Given the description of an element on the screen output the (x, y) to click on. 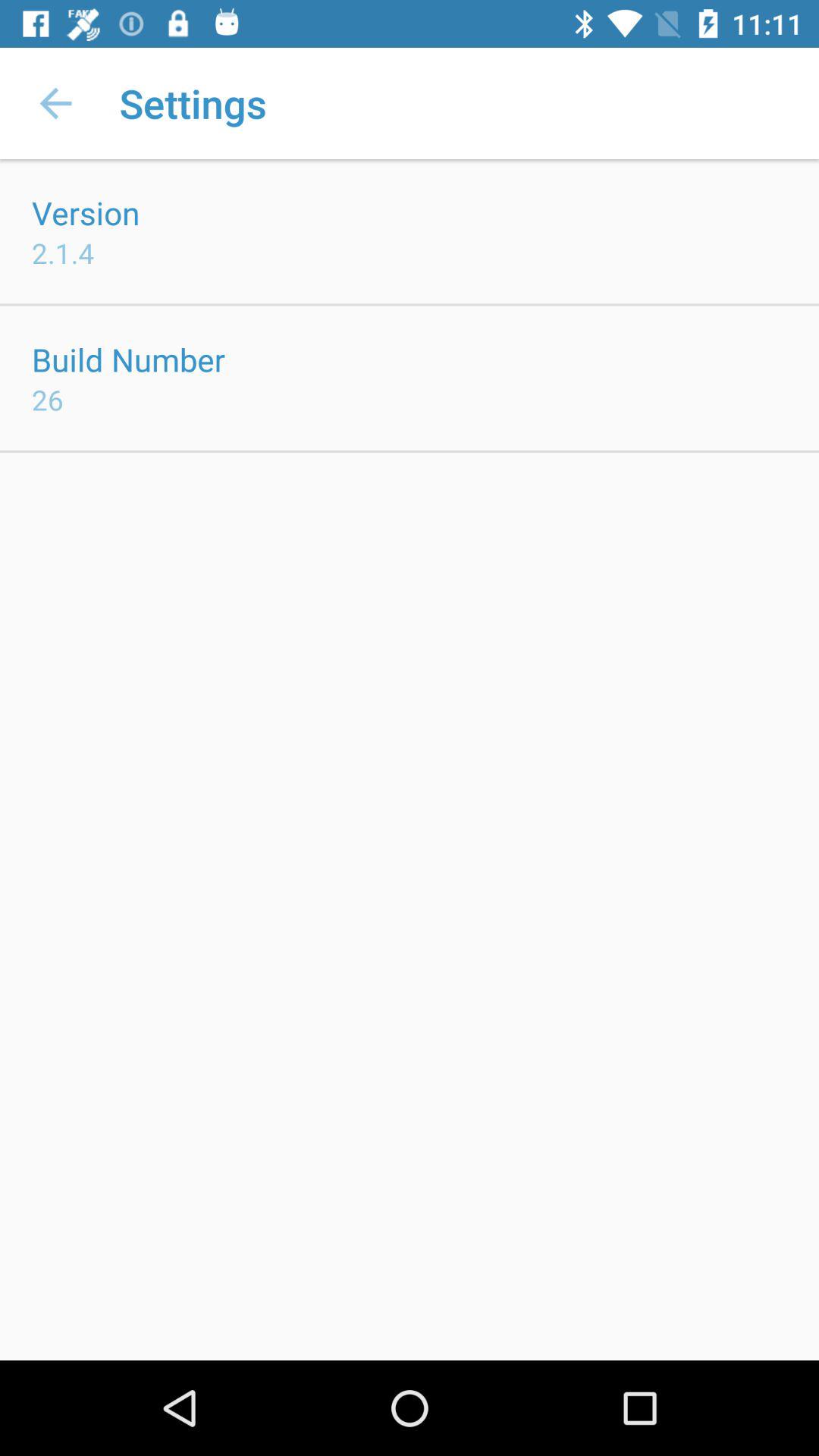
flip to 26 icon (47, 399)
